Given the description of an element on the screen output the (x, y) to click on. 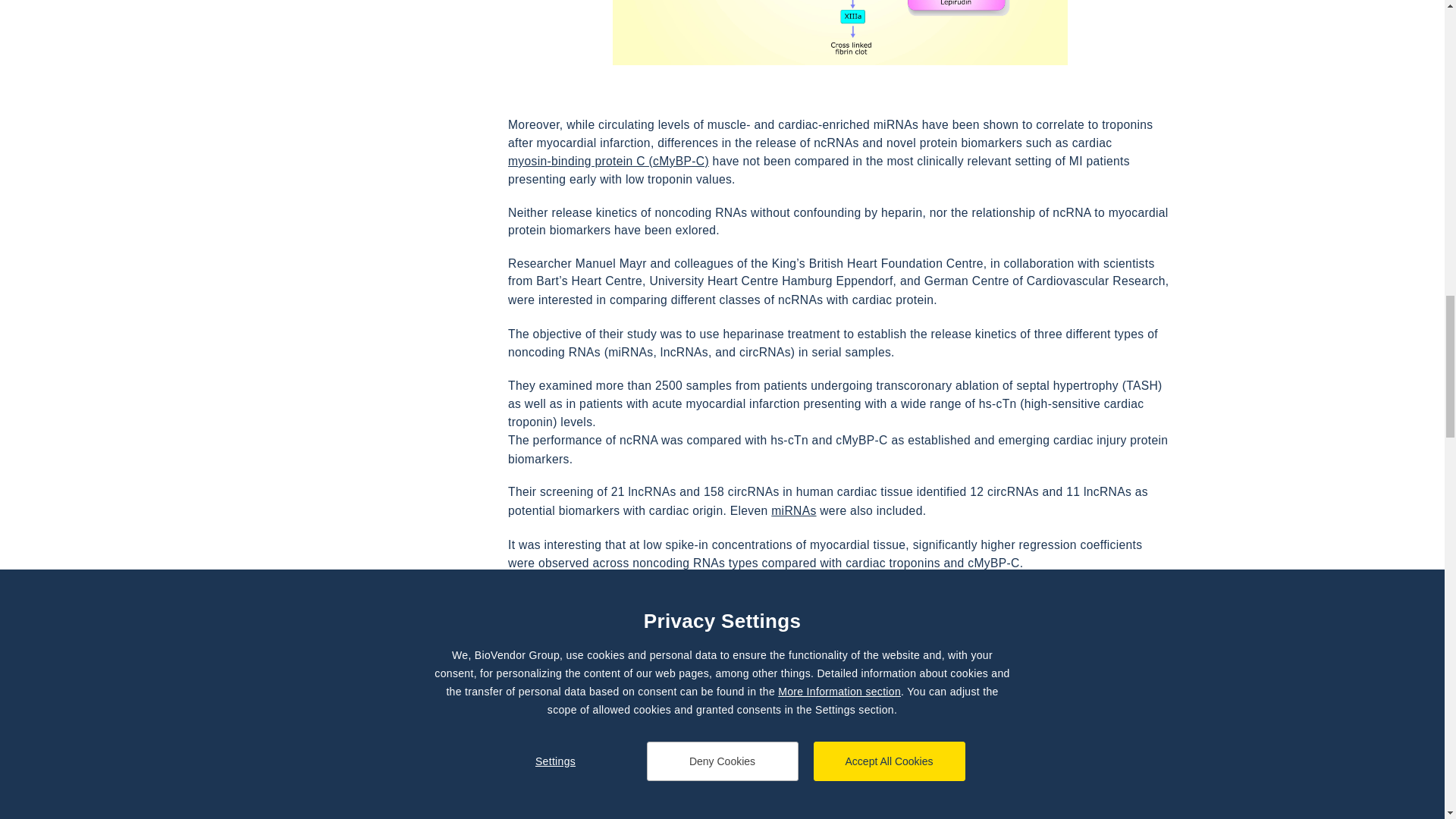
miRNAs (793, 510)
myosin-binding protein C (608, 160)
miRNAs (793, 510)
